Given the description of an element on the screen output the (x, y) to click on. 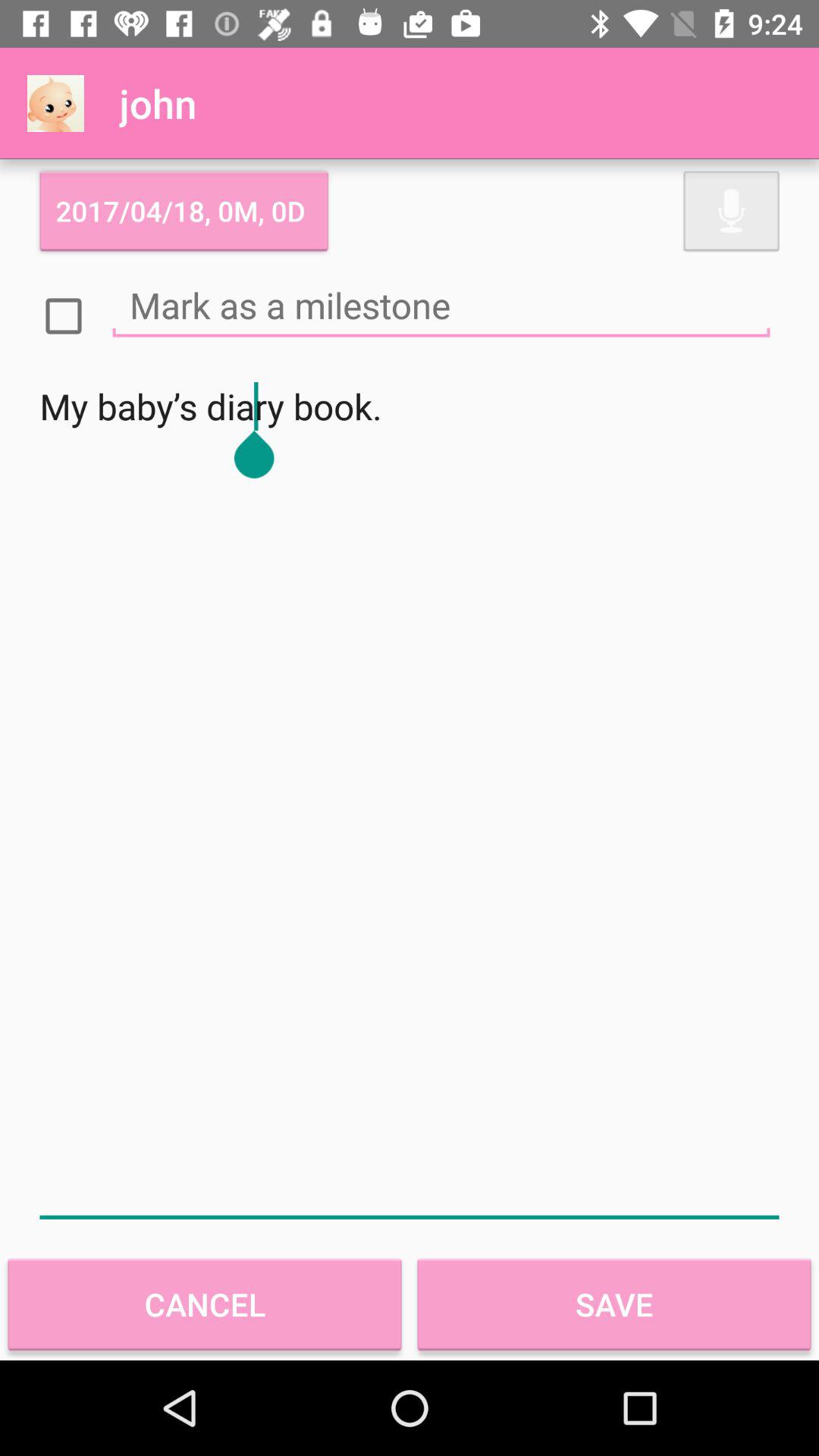
switch voice command on (731, 210)
